Given the description of an element on the screen output the (x, y) to click on. 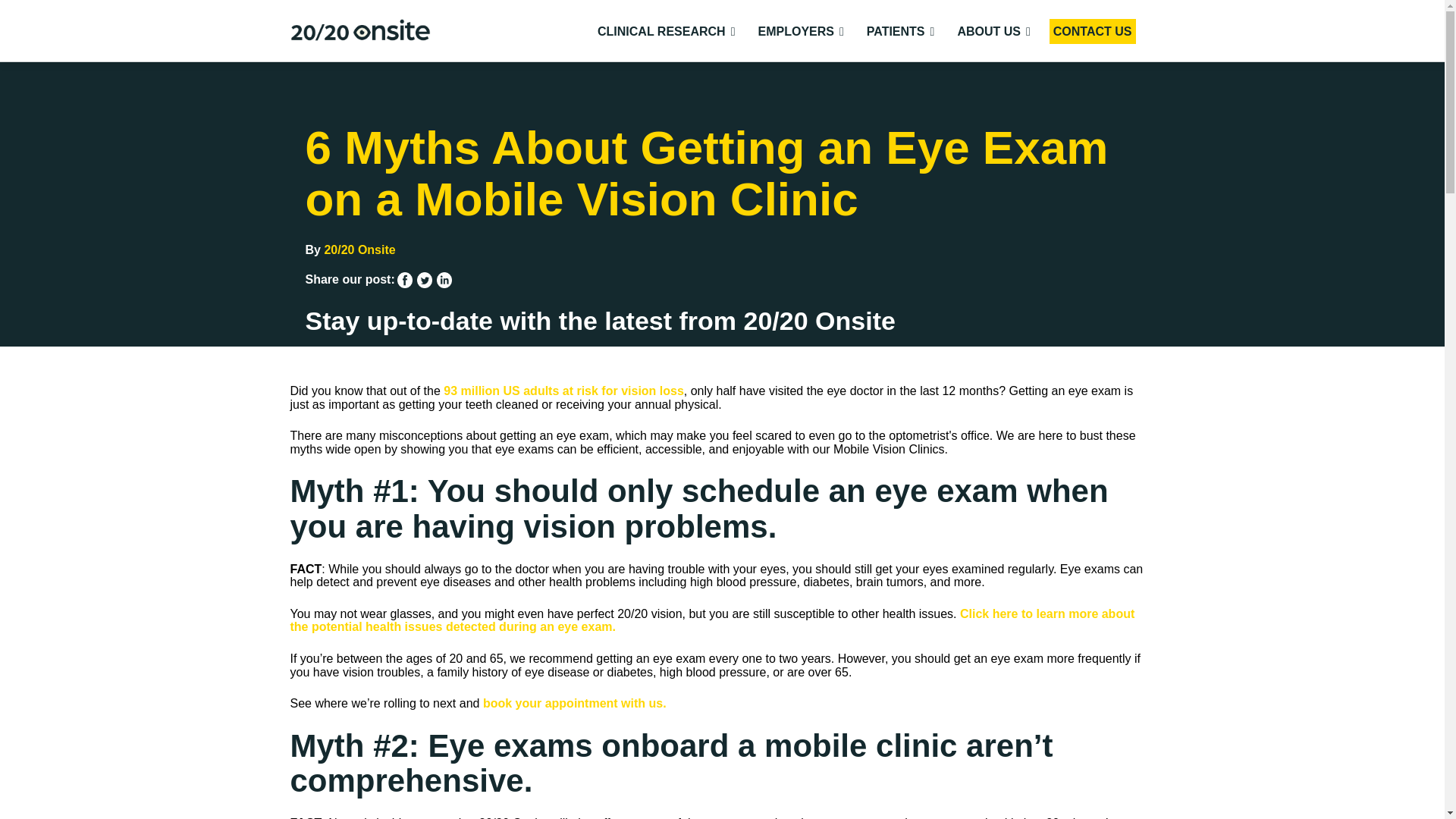
PATIENTS (901, 31)
ABOUT US (993, 31)
EMPLOYERS (800, 31)
CLINICAL RESEARCH (666, 31)
93 million US adults at risk for vision loss (564, 390)
CONTACT US (1092, 31)
2020Onsite-Wordmark-RGB-01 (359, 29)
book your appointment with us.  (576, 703)
